Given the description of an element on the screen output the (x, y) to click on. 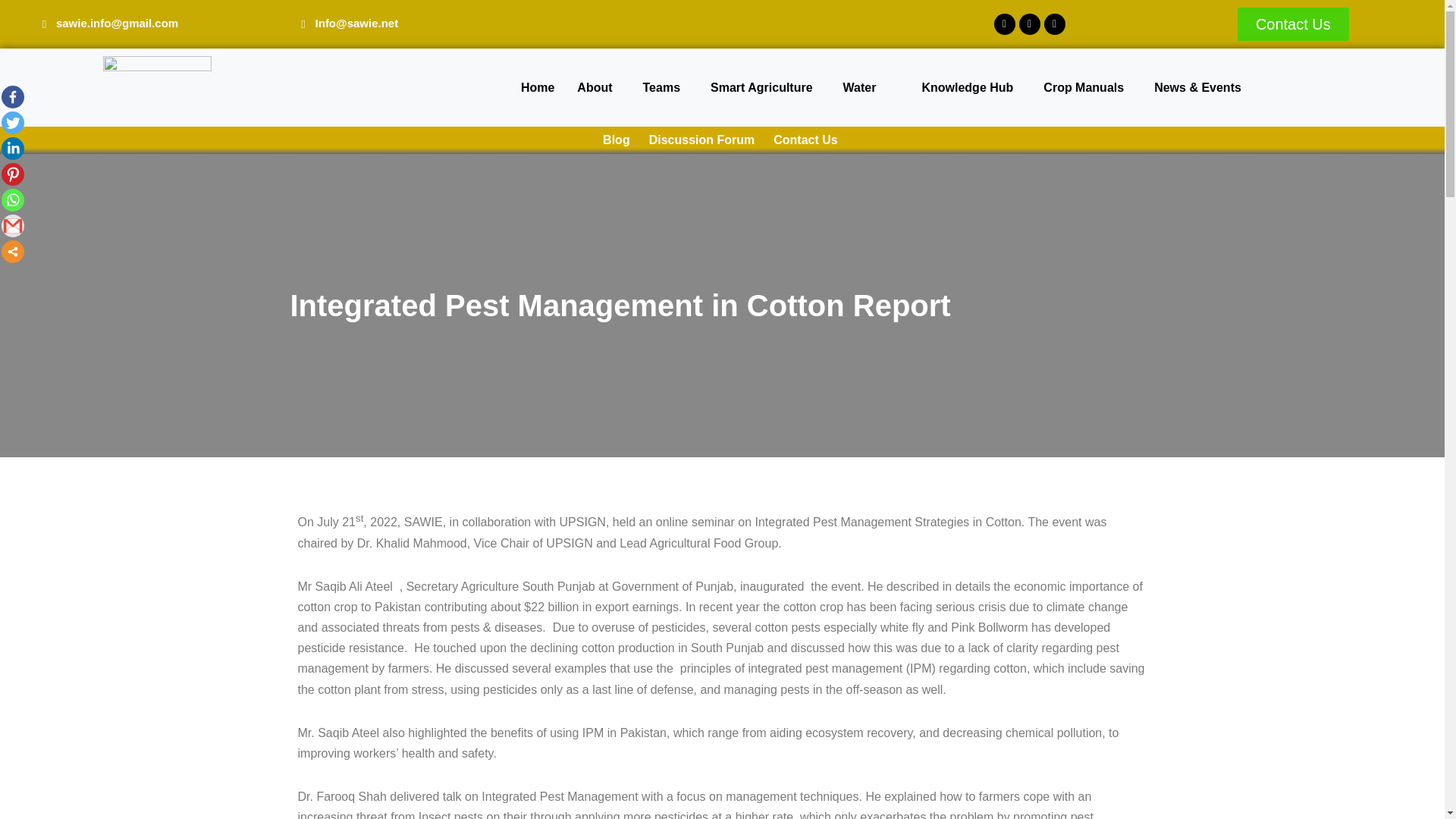
Contact Us (1293, 23)
Skip to content (11, 31)
Knowledge Hub (971, 86)
Twitter (12, 122)
Home (537, 86)
Water (863, 86)
More (12, 251)
About (598, 86)
Smart Agriculture (764, 86)
Teams (665, 86)
